Given the description of an element on the screen output the (x, y) to click on. 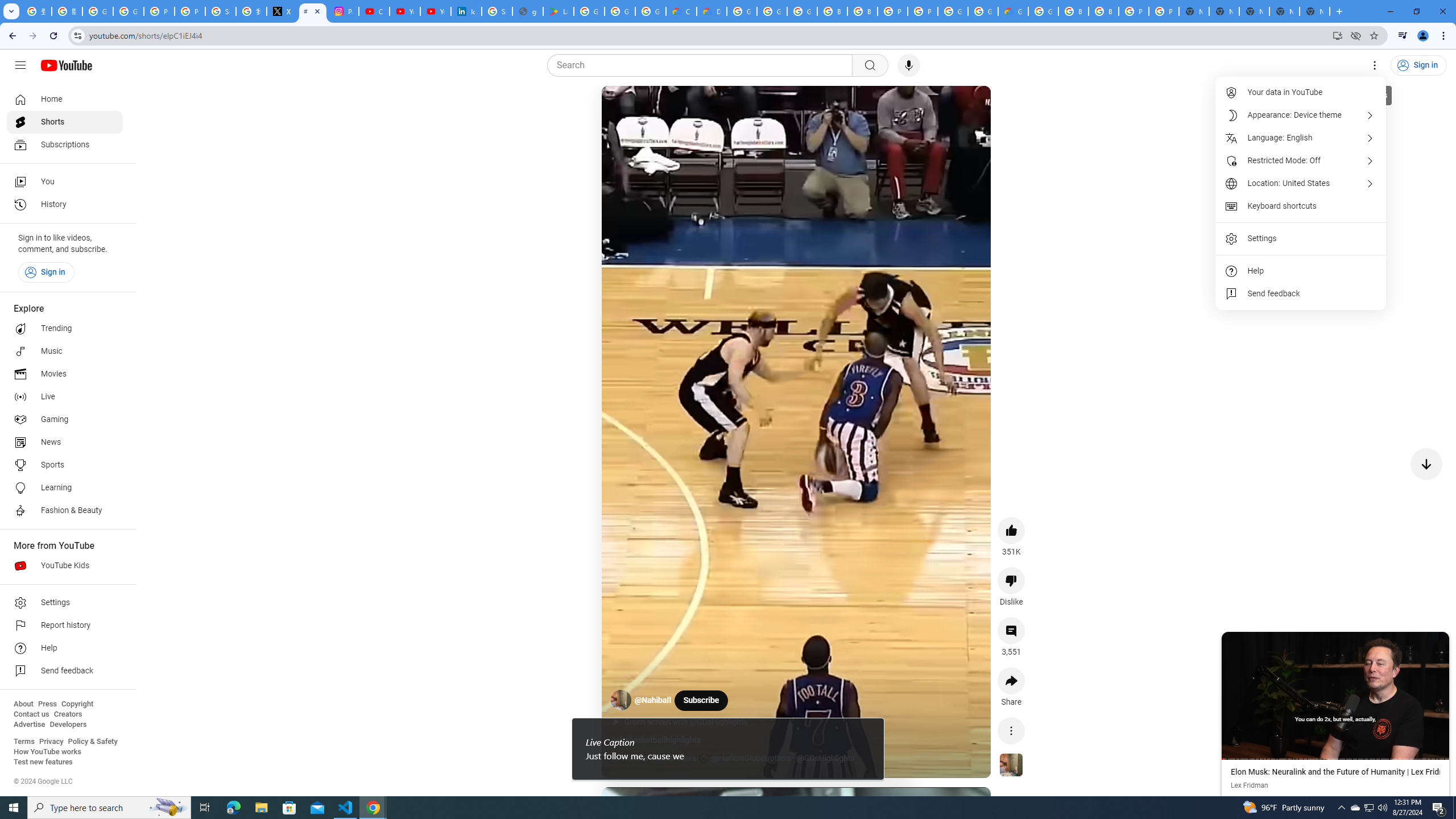
Home (64, 99)
Pause (k) (623, 108)
Guide (20, 65)
Next (SHIFT+n) (1392, 694)
Test new features (42, 761)
Gaming (64, 419)
Privacy Help Center - Policies Help (158, 11)
#nbabasketballhighlights - YouTube - Audio playing (312, 11)
Location: United States (1300, 182)
Language: English (1300, 137)
